Given the description of an element on the screen output the (x, y) to click on. 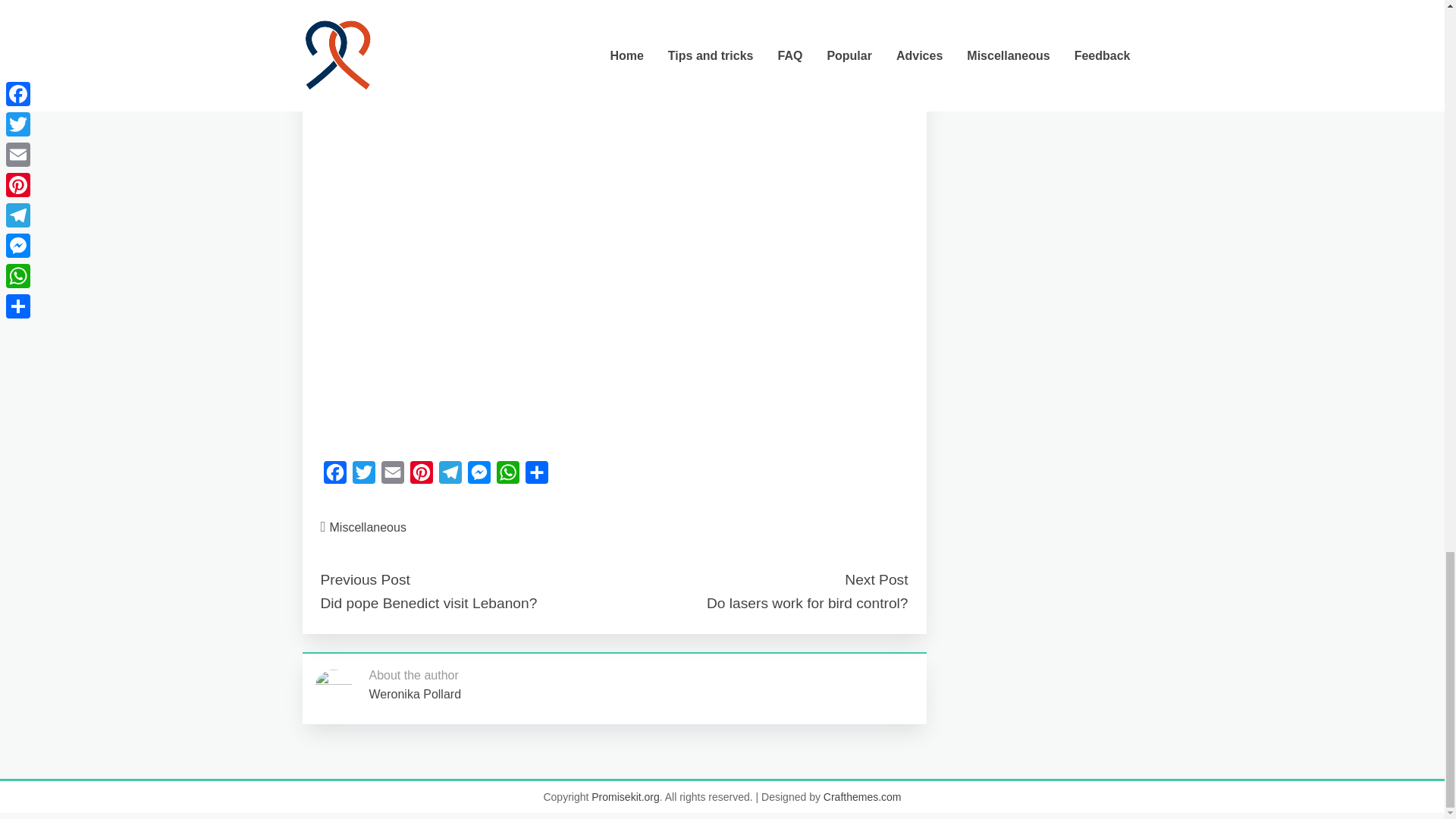
Previous Post (364, 579)
Twitter (363, 476)
Weronika Pollard (414, 694)
Telegram (449, 476)
Messenger (478, 476)
Do lasers work for bird control? (807, 602)
Messenger (478, 476)
Email (391, 476)
Pinterest (420, 476)
Facebook (334, 476)
Telegram (449, 476)
Facebook (334, 476)
WhatsApp (507, 476)
Pinterest (420, 476)
Did pope Benedict visit Lebanon? (428, 602)
